Given the description of an element on the screen output the (x, y) to click on. 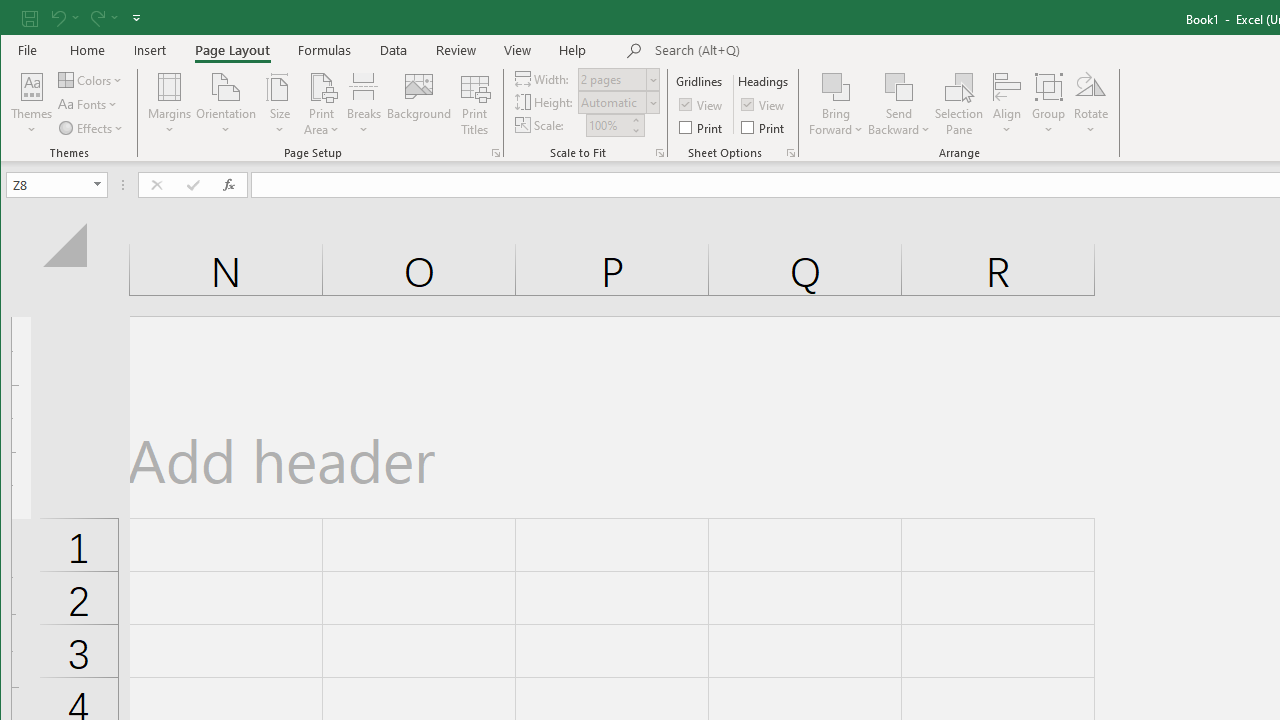
Breaks (364, 104)
Rotate (1091, 104)
Page Setup (659, 152)
Width (612, 79)
Fonts (89, 103)
Selection Pane... (959, 104)
Less (635, 130)
Colors (92, 80)
Group (1048, 104)
